Given the description of an element on the screen output the (x, y) to click on. 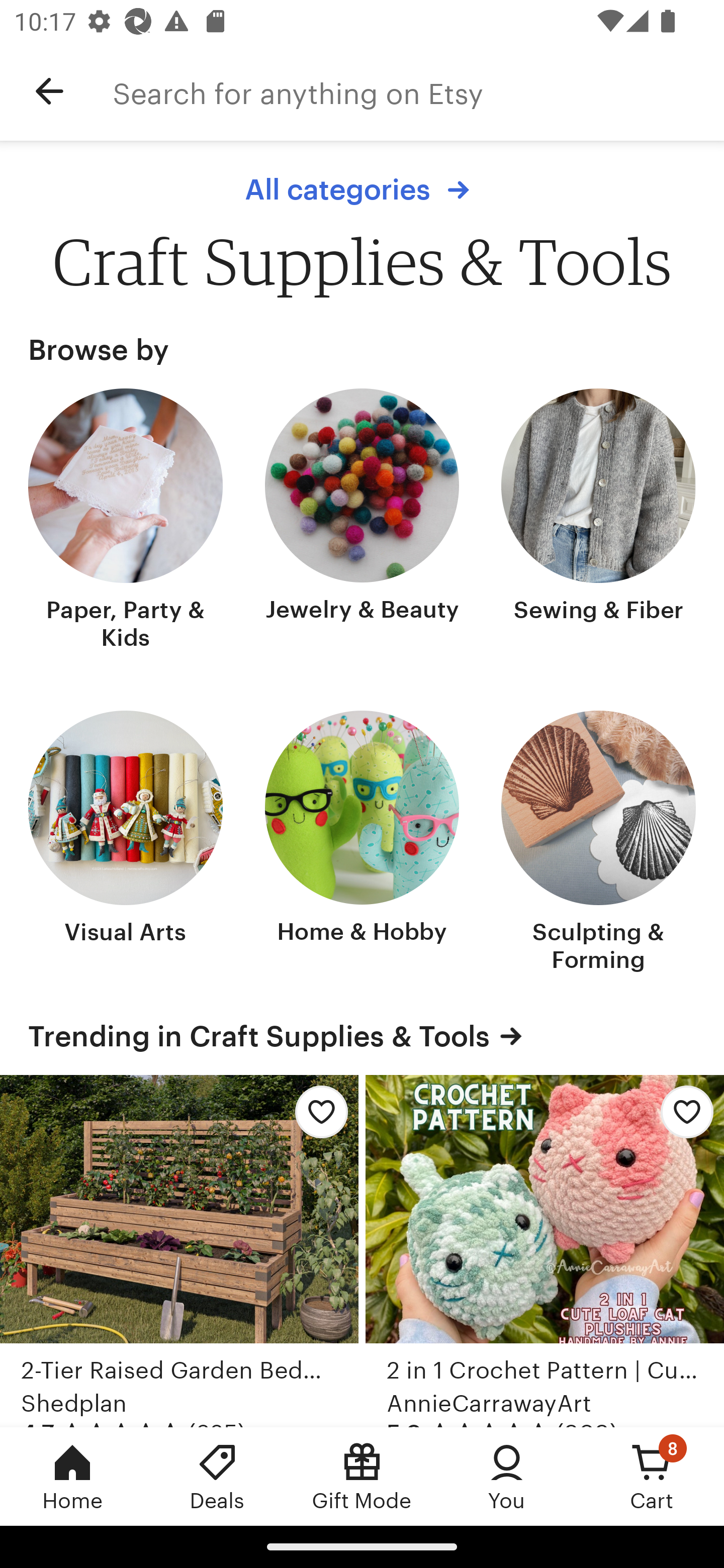
Navigate up (49, 91)
Search for anything on Etsy (418, 91)
All categories (361, 189)
Paper, Party & Kids (125, 520)
Jewelry & Beauty (361, 520)
Sewing & Fiber (598, 520)
Visual Arts (125, 843)
Home & Hobby (361, 843)
Sculpting & Forming (598, 843)
Trending in Craft Supplies & Tools  (361, 1036)
Deals (216, 1475)
Gift Mode (361, 1475)
You (506, 1475)
Cart, 8 new notifications Cart (651, 1475)
